Given the description of an element on the screen output the (x, y) to click on. 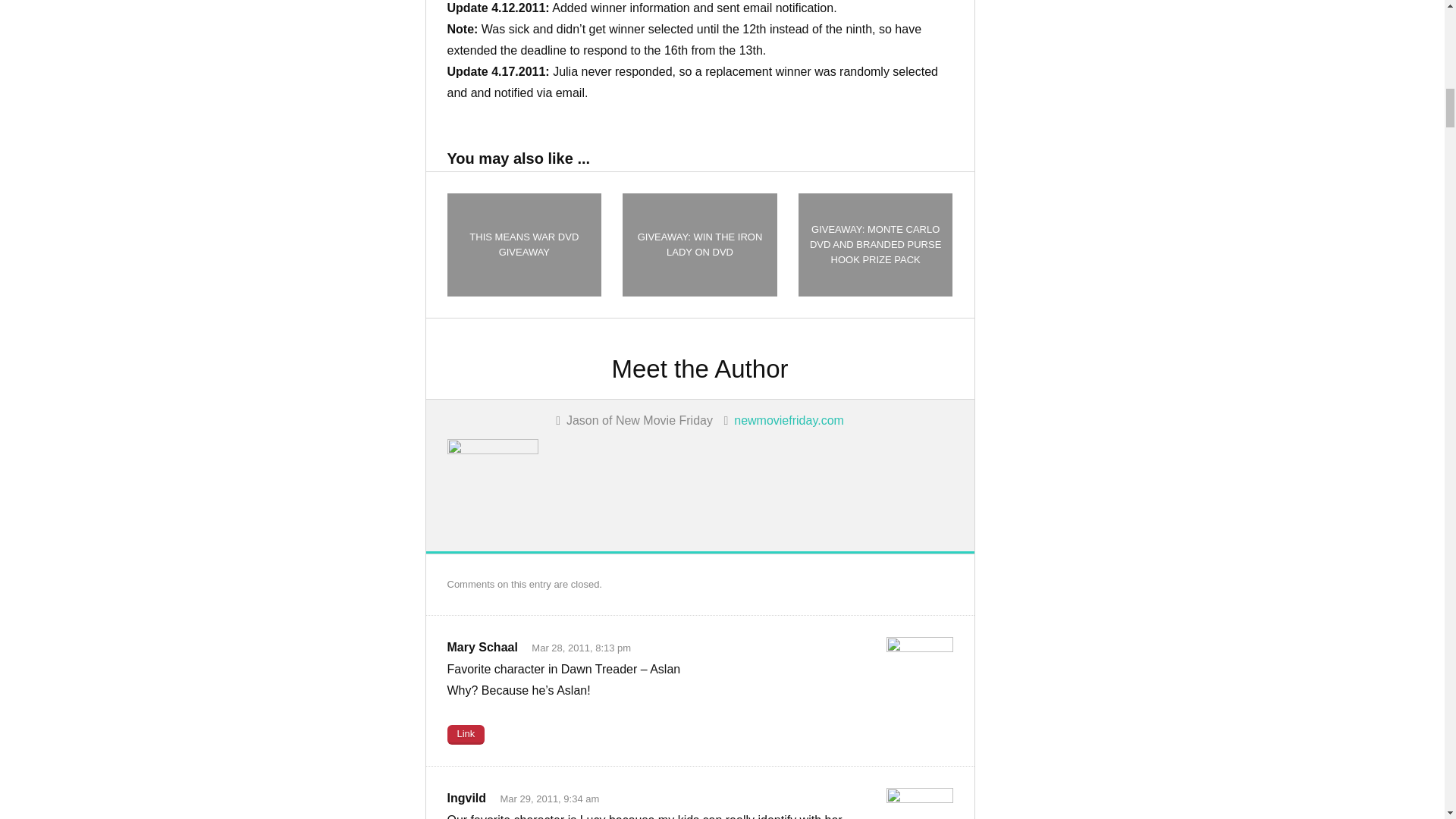
permalink to this comment (465, 734)
Link (465, 734)
newmoviefriday.com (788, 420)
